Given the description of an element on the screen output the (x, y) to click on. 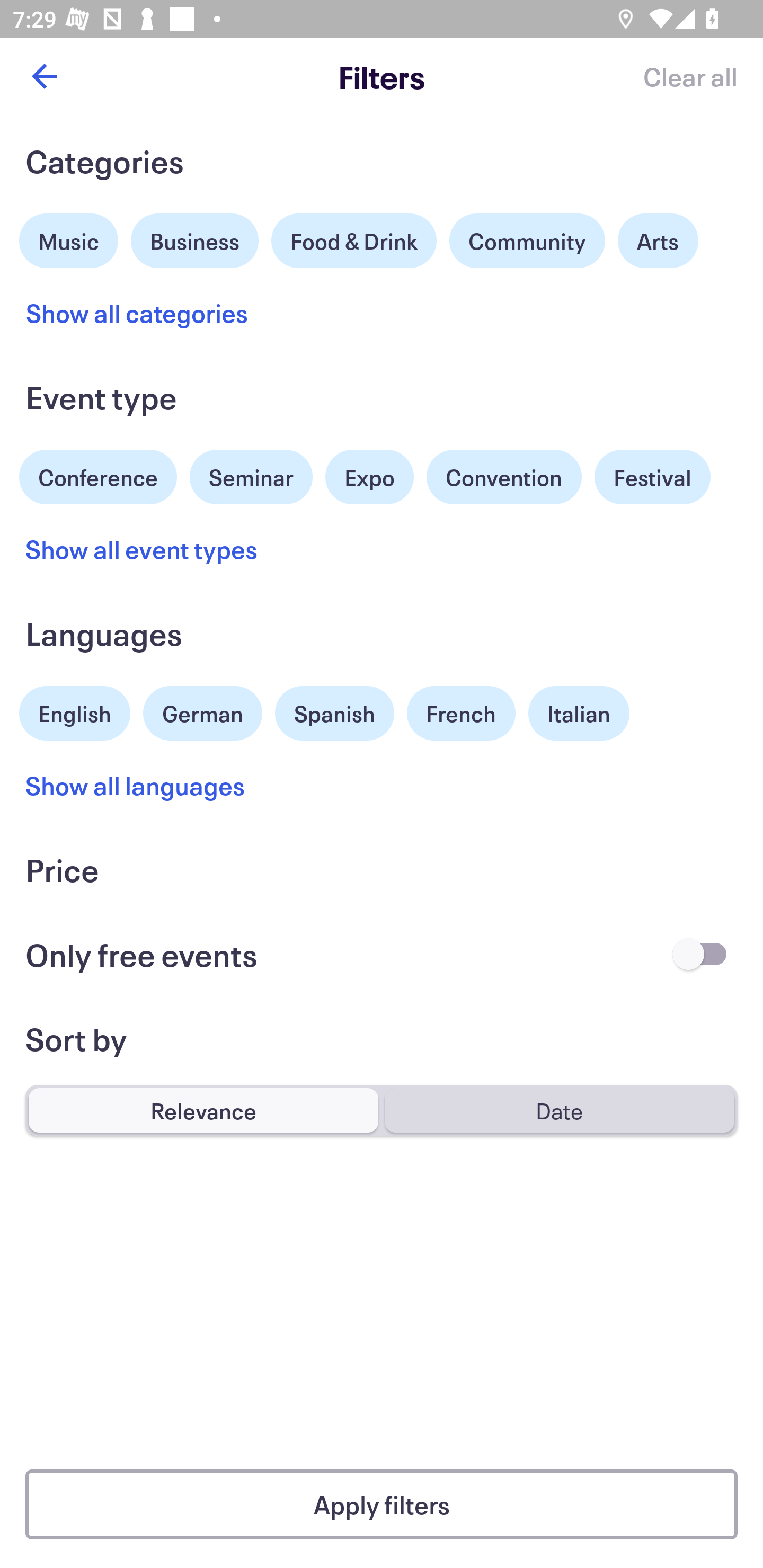
Back button (44, 75)
Clear all (690, 75)
Music (68, 238)
Business (194, 238)
Food & Drink (353, 240)
Community (527, 240)
Arts (658, 240)
Show all categories (136, 312)
Conference (98, 475)
Seminar (250, 477)
Expo (369, 477)
Convention (503, 477)
Festival (652, 477)
Show all event types (141, 548)
English (74, 710)
German (202, 710)
Spanish (334, 713)
French (460, 713)
Italian (578, 713)
Show all languages (135, 784)
Relevance (203, 1109)
Date (559, 1109)
Apply filters (381, 1504)
